Given the description of an element on the screen output the (x, y) to click on. 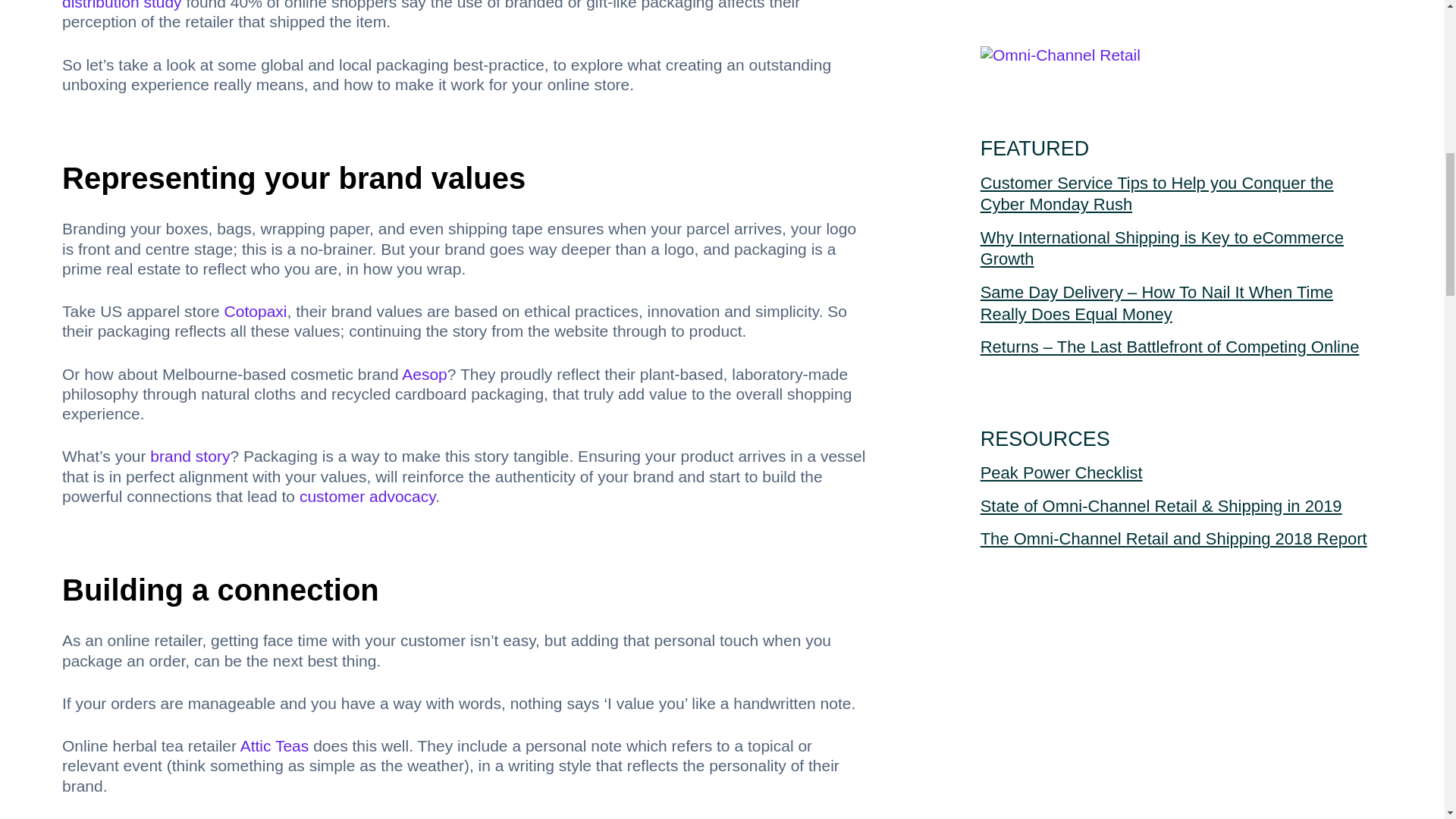
Cotopaxi (255, 311)
Attic Teas (274, 745)
brand story (189, 456)
Aesop (423, 374)
customer advocacy (367, 496)
Dotcom distribution study (427, 5)
